Given the description of an element on the screen output the (x, y) to click on. 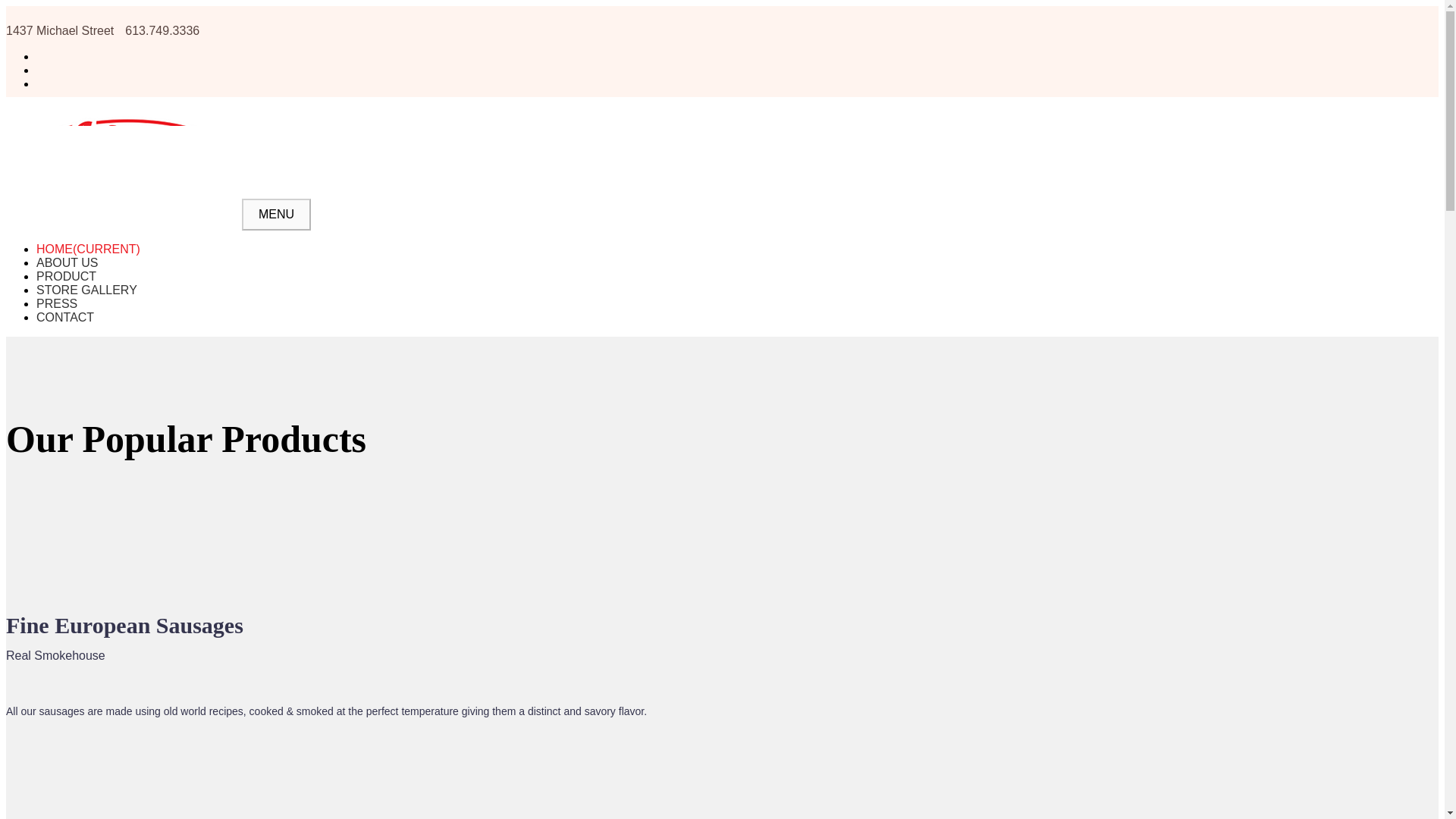
PRESS (56, 303)
CONTACT (65, 317)
PRODUCT (66, 276)
613.749.3336 (162, 30)
MENU (276, 214)
ABOUT US (67, 262)
STORE GALLERY (86, 289)
